Given the description of an element on the screen output the (x, y) to click on. 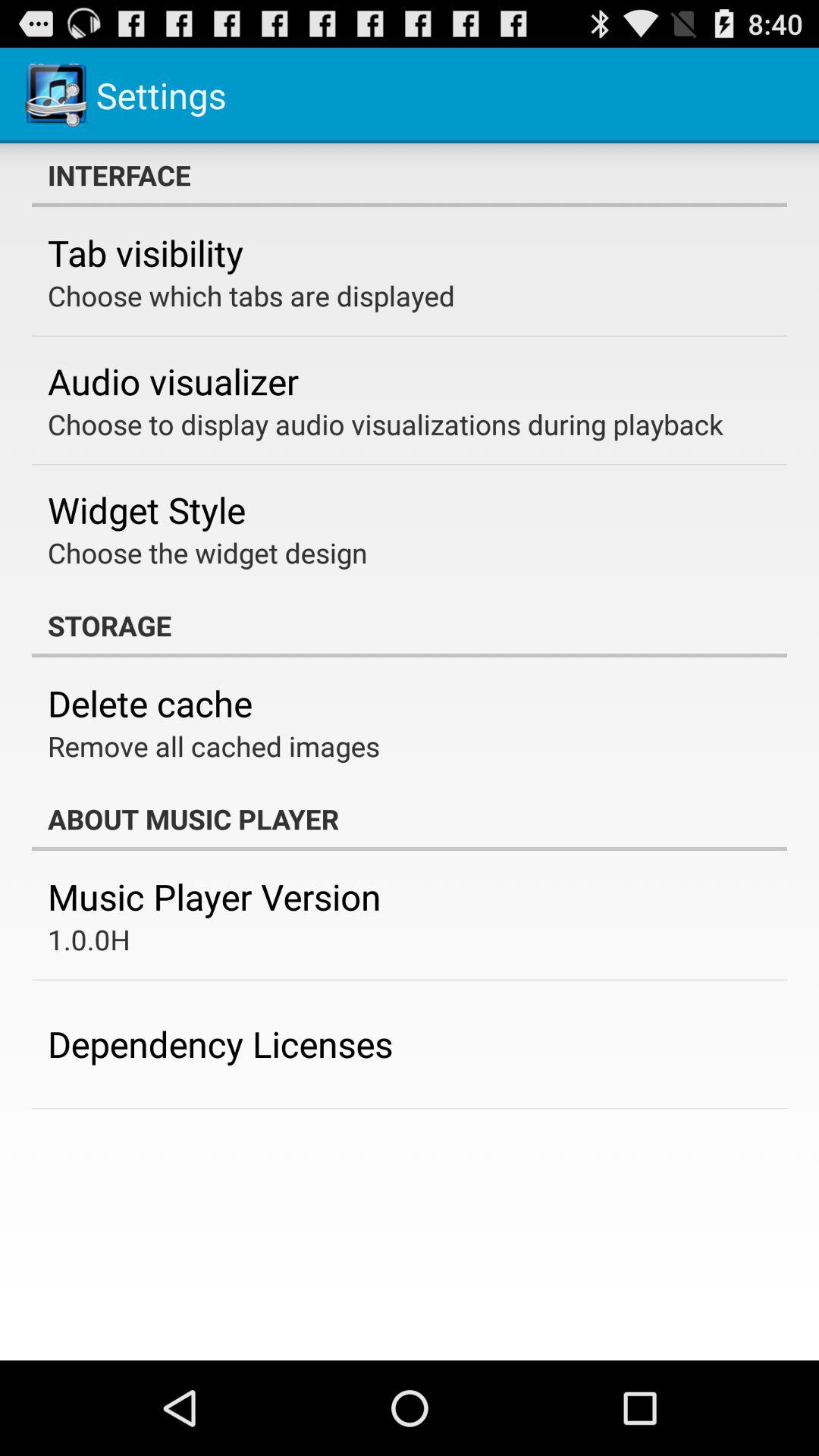
launch the app above audio visualizer (251, 295)
